Given the description of an element on the screen output the (x, y) to click on. 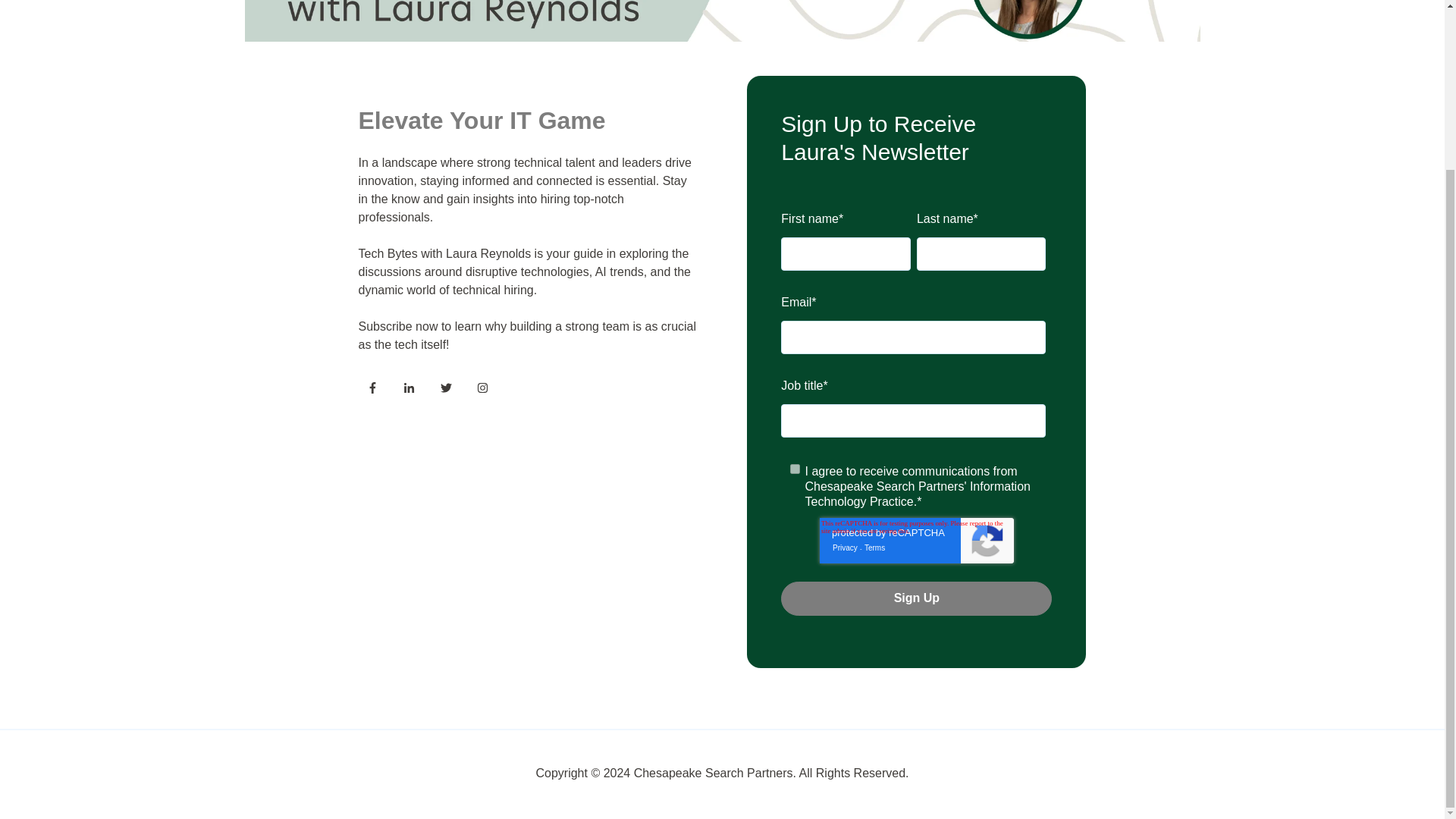
reCAPTCHA (916, 540)
true (794, 469)
Follow us on Instagram (486, 391)
Follow us on Facebook (372, 387)
Follow us on LinkedIn (408, 387)
Sign Up (915, 598)
Follow us on Instagram (482, 387)
Follow us on Twitter (446, 387)
Follow us on Facebook (376, 391)
Sign Up (915, 598)
LAURA LANDING PAGE COVER PIC (721, 20)
Follow us on LinkedIn (413, 391)
Follow us on Twitter (450, 391)
